Given the description of an element on the screen output the (x, y) to click on. 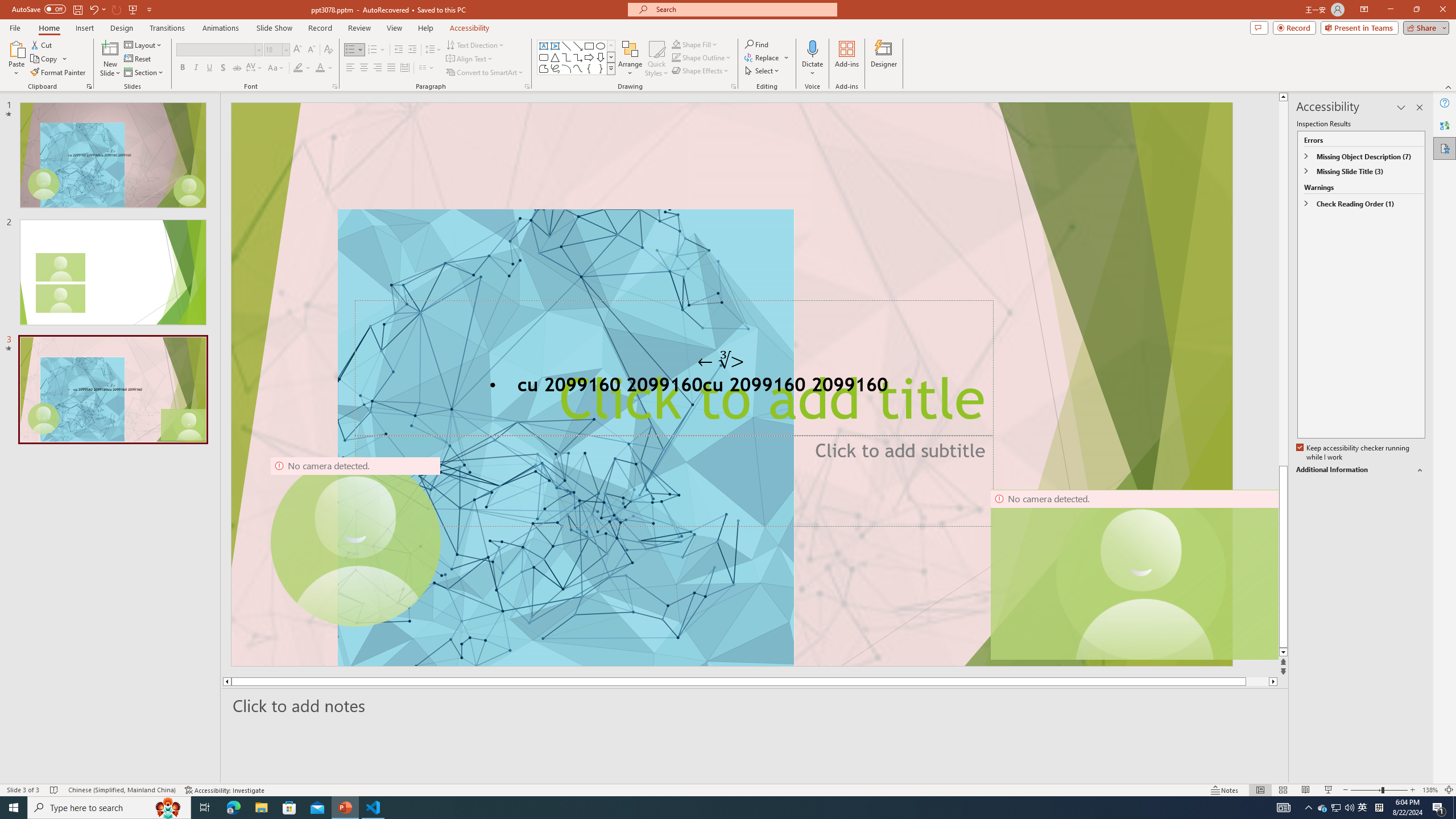
Camera 11, No camera detected. (1141, 574)
